Given the description of an element on the screen output the (x, y) to click on. 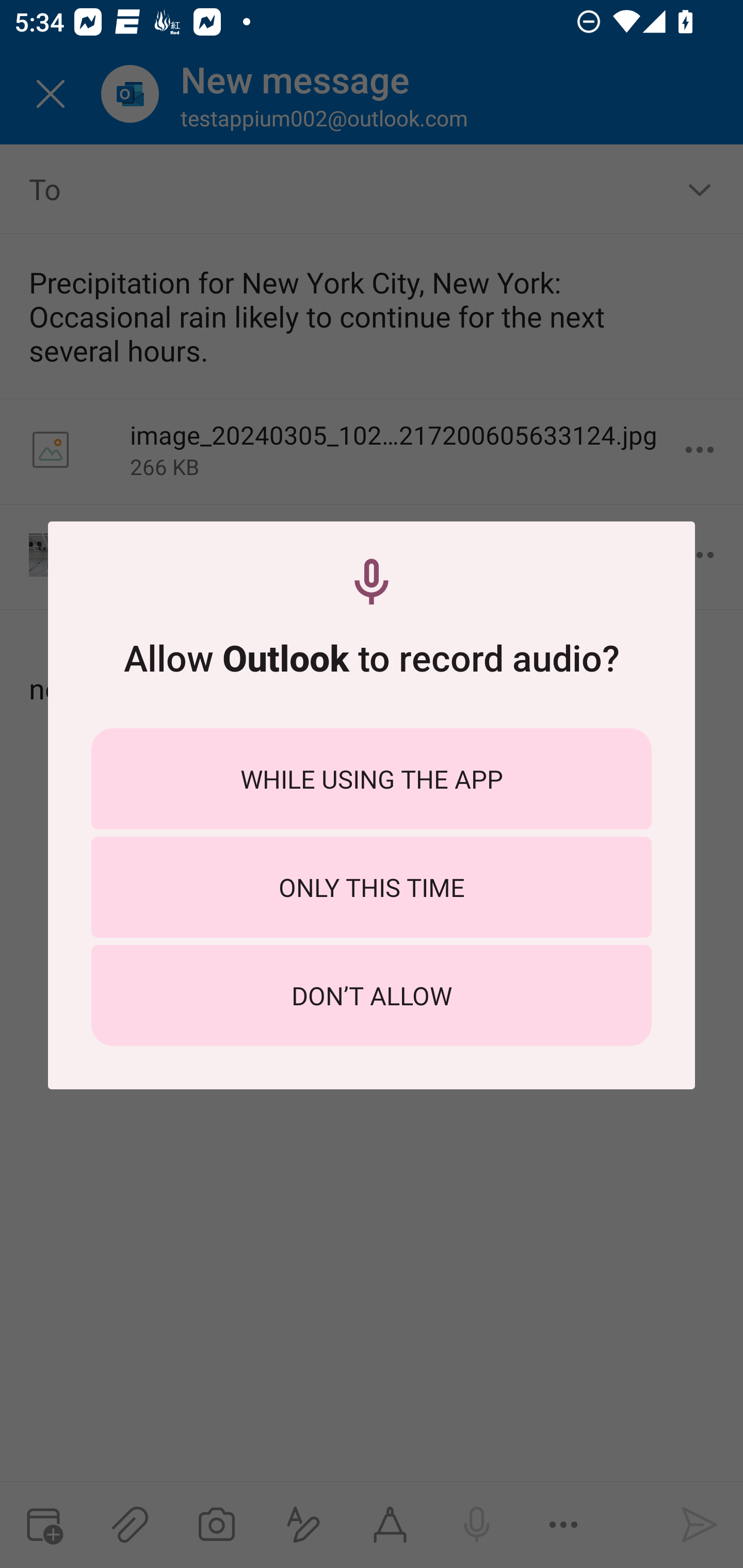
WHILE USING THE APP (371, 778)
ONLY THIS TIME (371, 887)
DON’T ALLOW (371, 995)
